Given the description of an element on the screen output the (x, y) to click on. 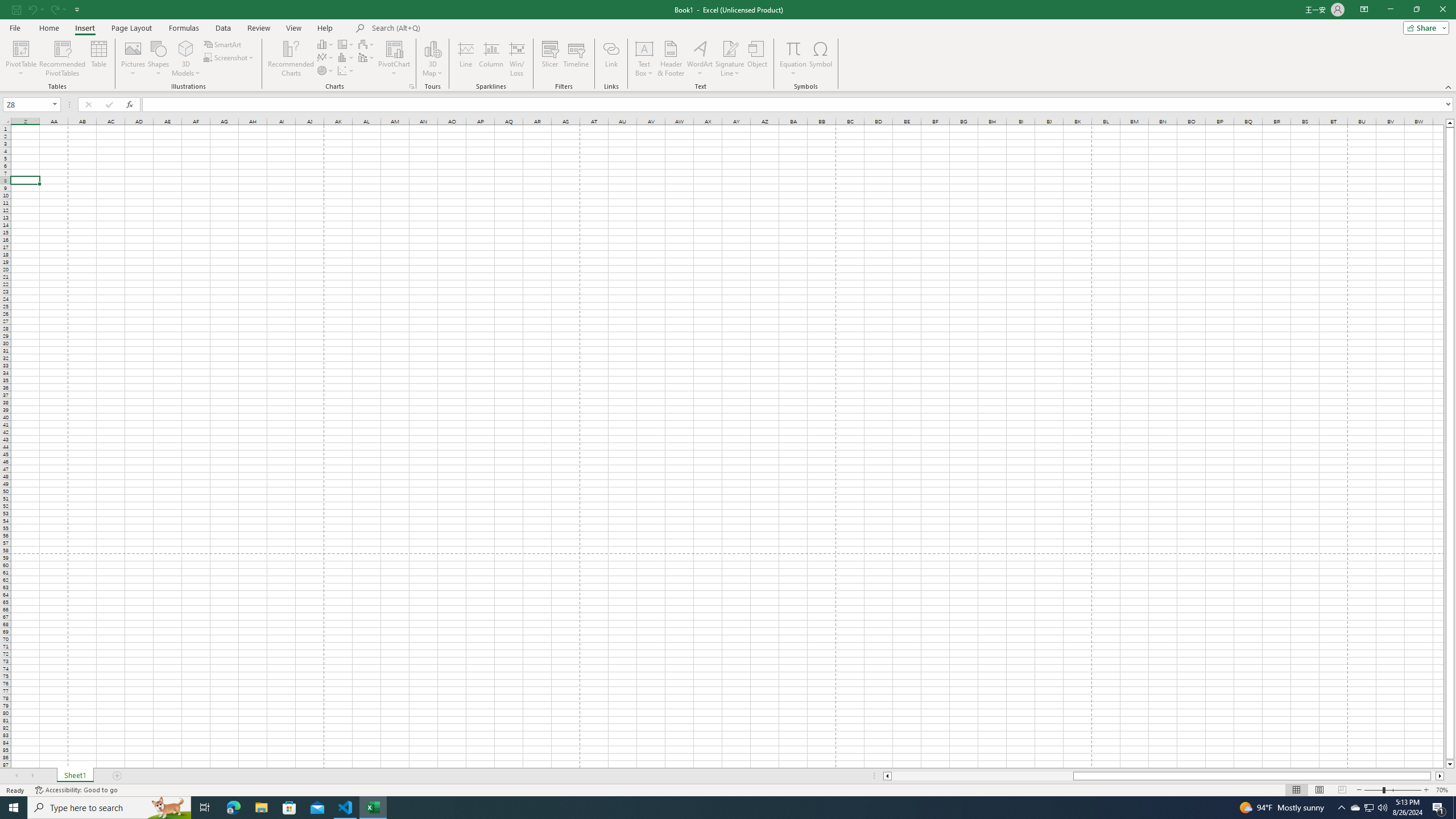
Column (491, 58)
Slicer... (550, 58)
